Given the description of an element on the screen output the (x, y) to click on. 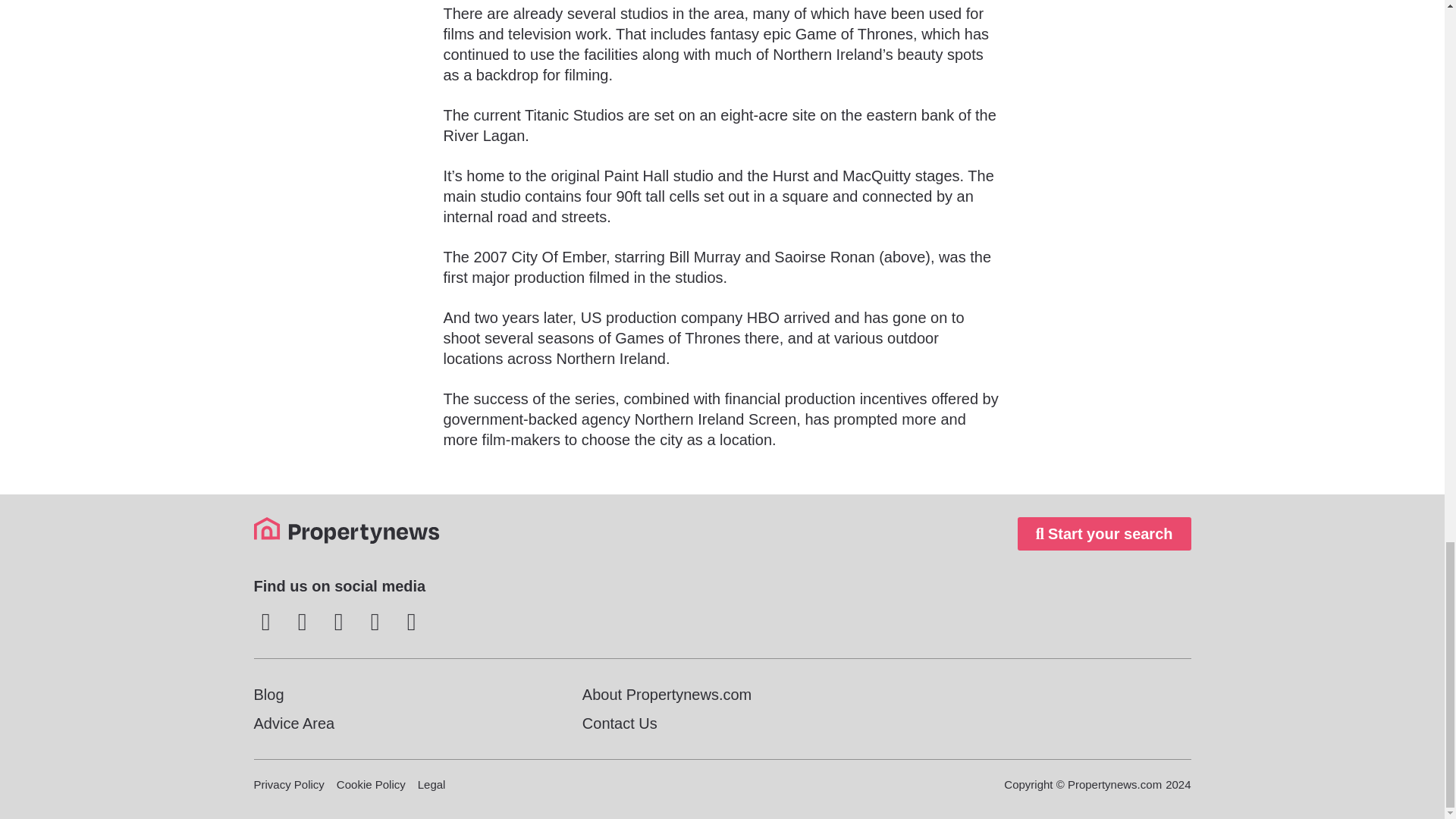
Contact Us (721, 722)
Blog (392, 694)
Start your search (1104, 533)
Legal (431, 784)
Cookie Policy (371, 784)
Advice Area (392, 722)
About Propertynews.com (721, 694)
Privacy Policy (288, 784)
